Given the description of an element on the screen output the (x, y) to click on. 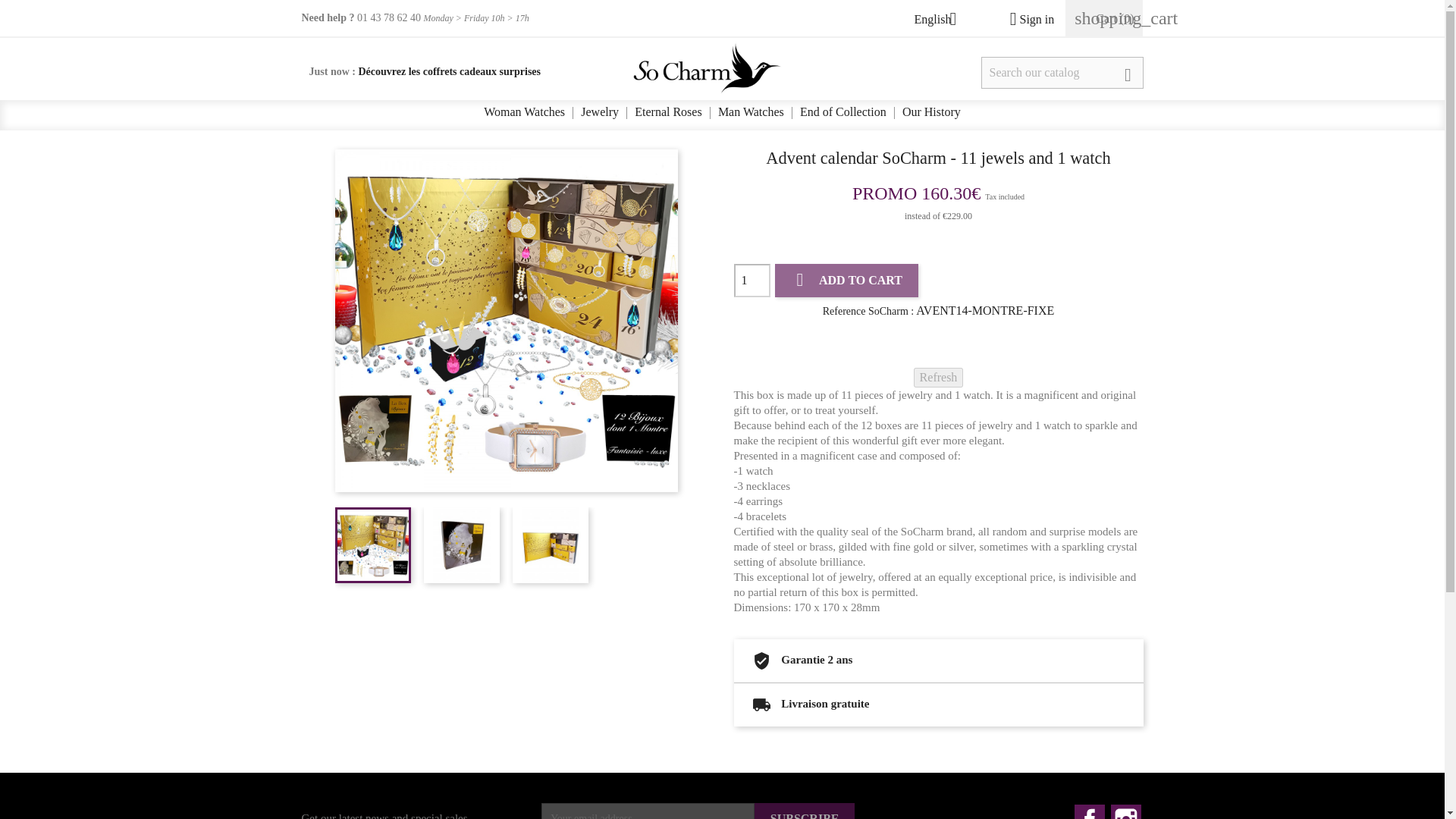
End of Collection (842, 112)
Jewelry (599, 112)
Instagram (1125, 811)
Refresh (938, 377)
Subscribe (805, 811)
Woman Watches (523, 112)
Log in to your customer account (1025, 19)
Our History (931, 112)
Refresh (938, 377)
1 (751, 280)
